Given the description of an element on the screen output the (x, y) to click on. 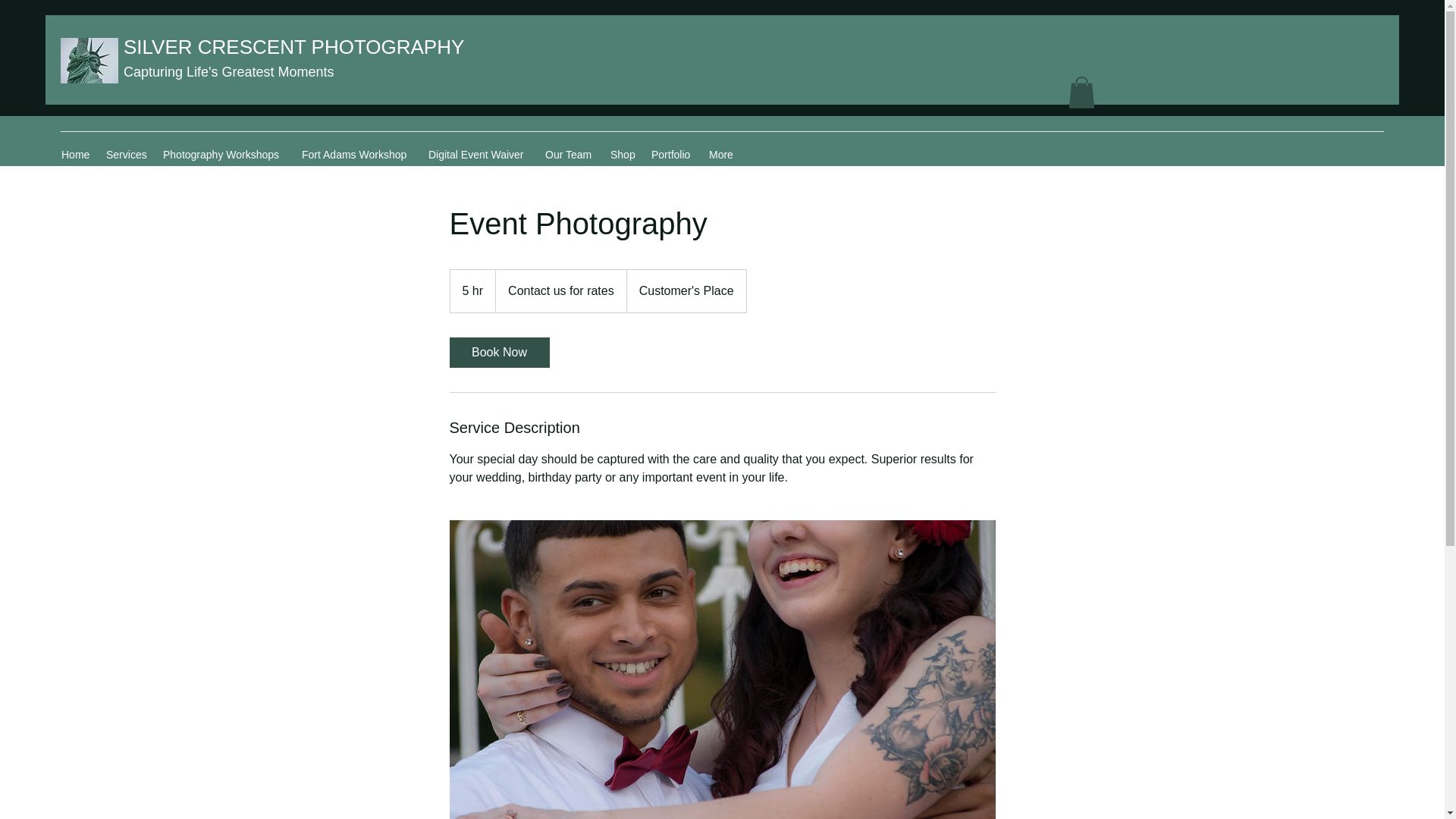
Our Team (569, 154)
Shop (622, 154)
Book Now (498, 352)
Services (127, 154)
Photography Workshops (224, 154)
Digital Event Waiver (478, 154)
Portfolio (672, 154)
Fort Adams Workshop (357, 154)
Home (76, 154)
